Given the description of an element on the screen output the (x, y) to click on. 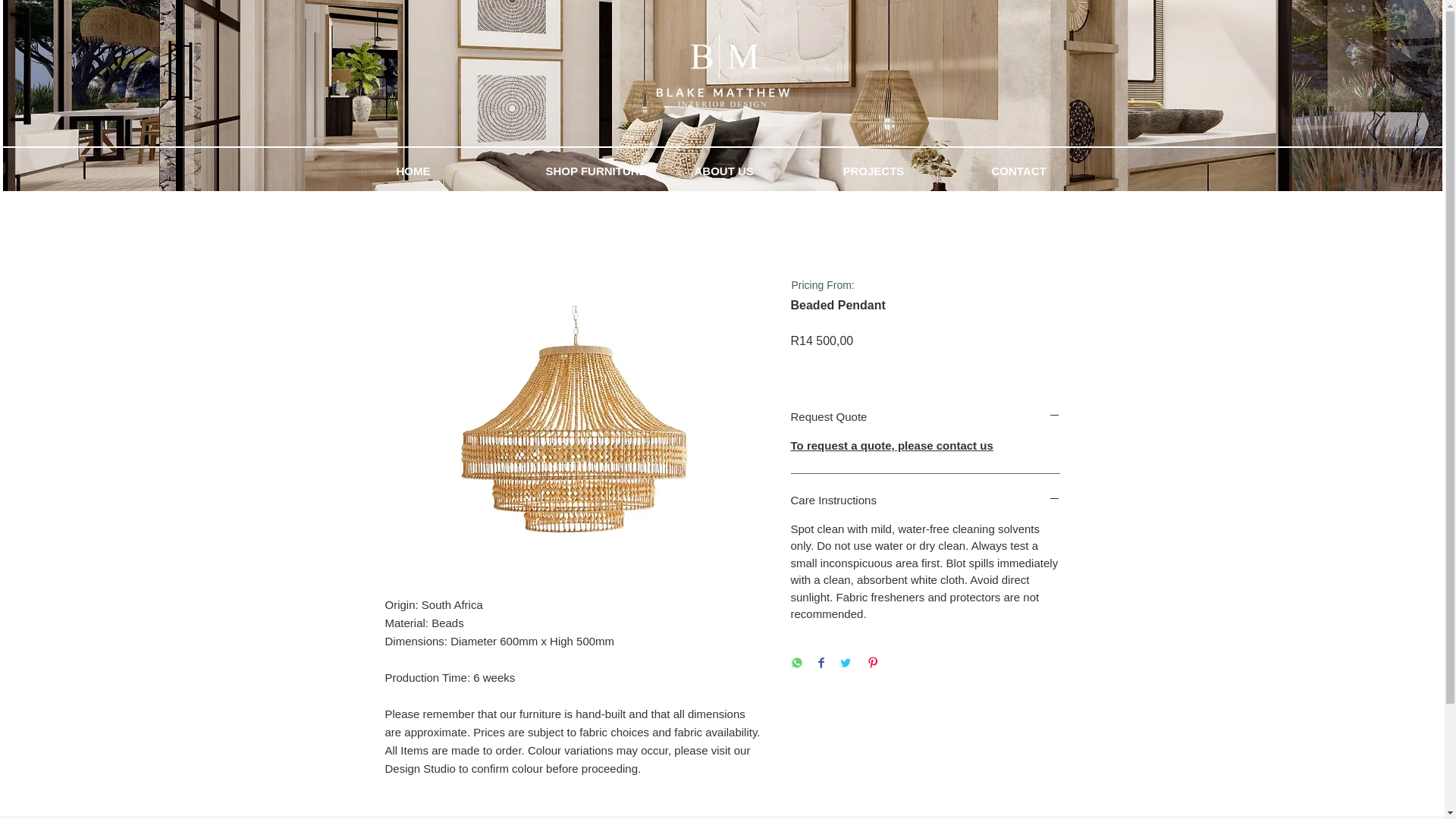
CONTACT (1053, 171)
Care Instructions (924, 499)
PROJECTS (905, 171)
Request Quote (924, 416)
ABOUT US (756, 171)
To request a quote, please contact us (891, 445)
HOME (459, 171)
SHOP FURNITURE (608, 171)
